Given the description of an element on the screen output the (x, y) to click on. 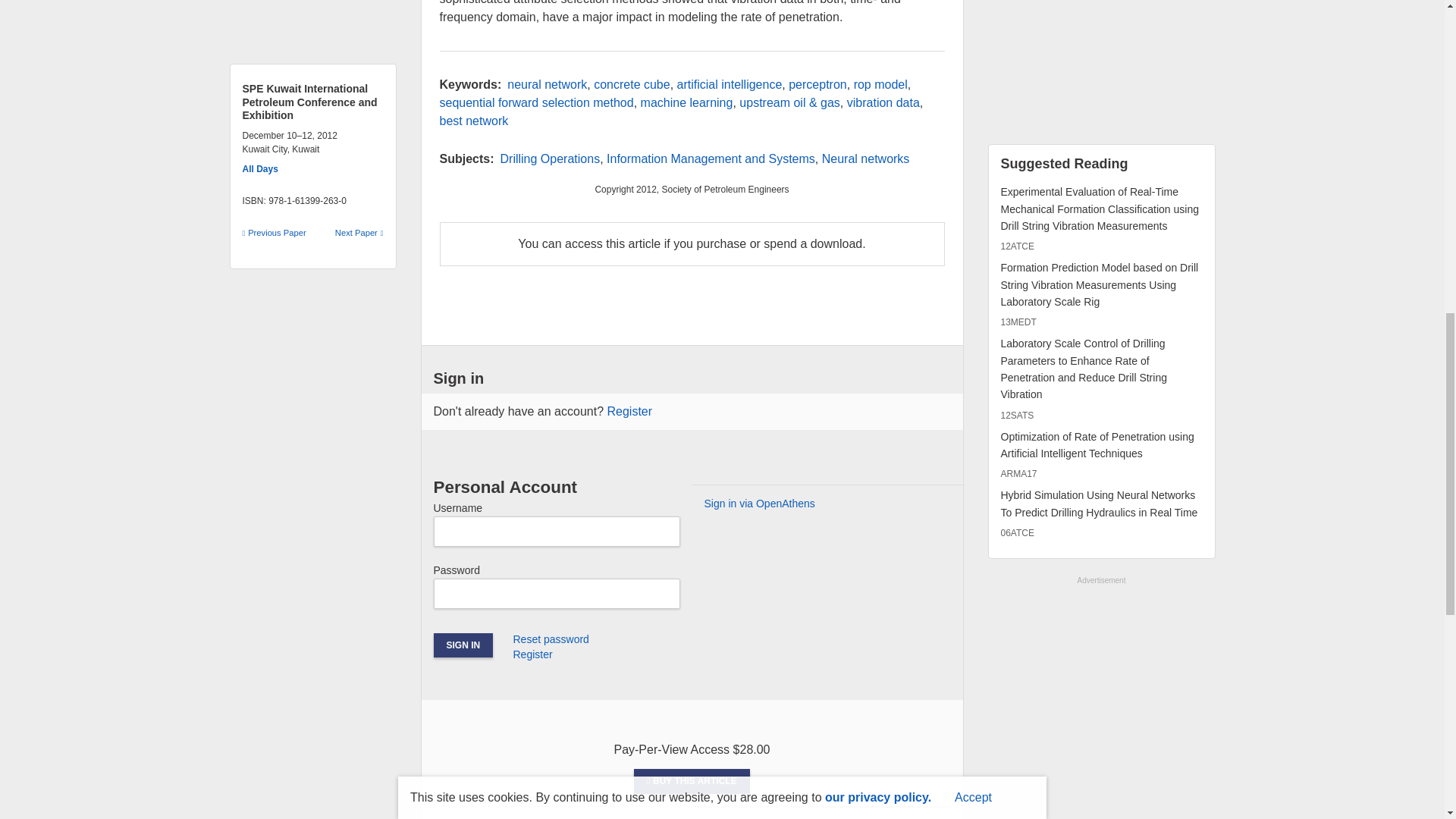
3rd party ad content (1100, 63)
3rd party ad content (1100, 682)
